Given the description of an element on the screen output the (x, y) to click on. 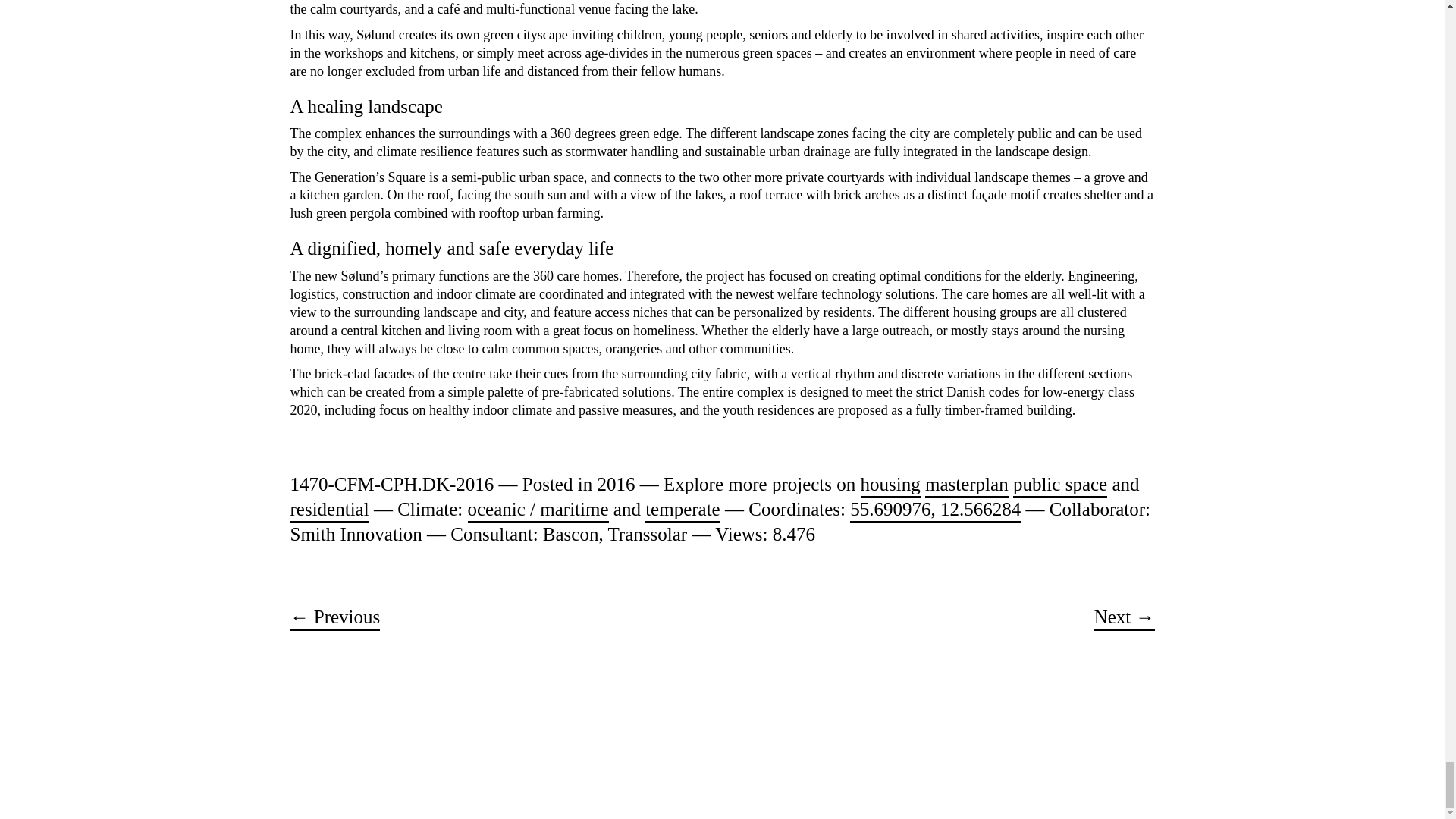
55.690976, 12.566284 (935, 510)
Residential (328, 510)
masterplan (966, 485)
public space (1059, 485)
temperate (682, 510)
residential (328, 510)
Housing (890, 485)
Public space (1059, 485)
55.690976, 12.566284 (935, 510)
Masterplan (966, 485)
